Given the description of an element on the screen output the (x, y) to click on. 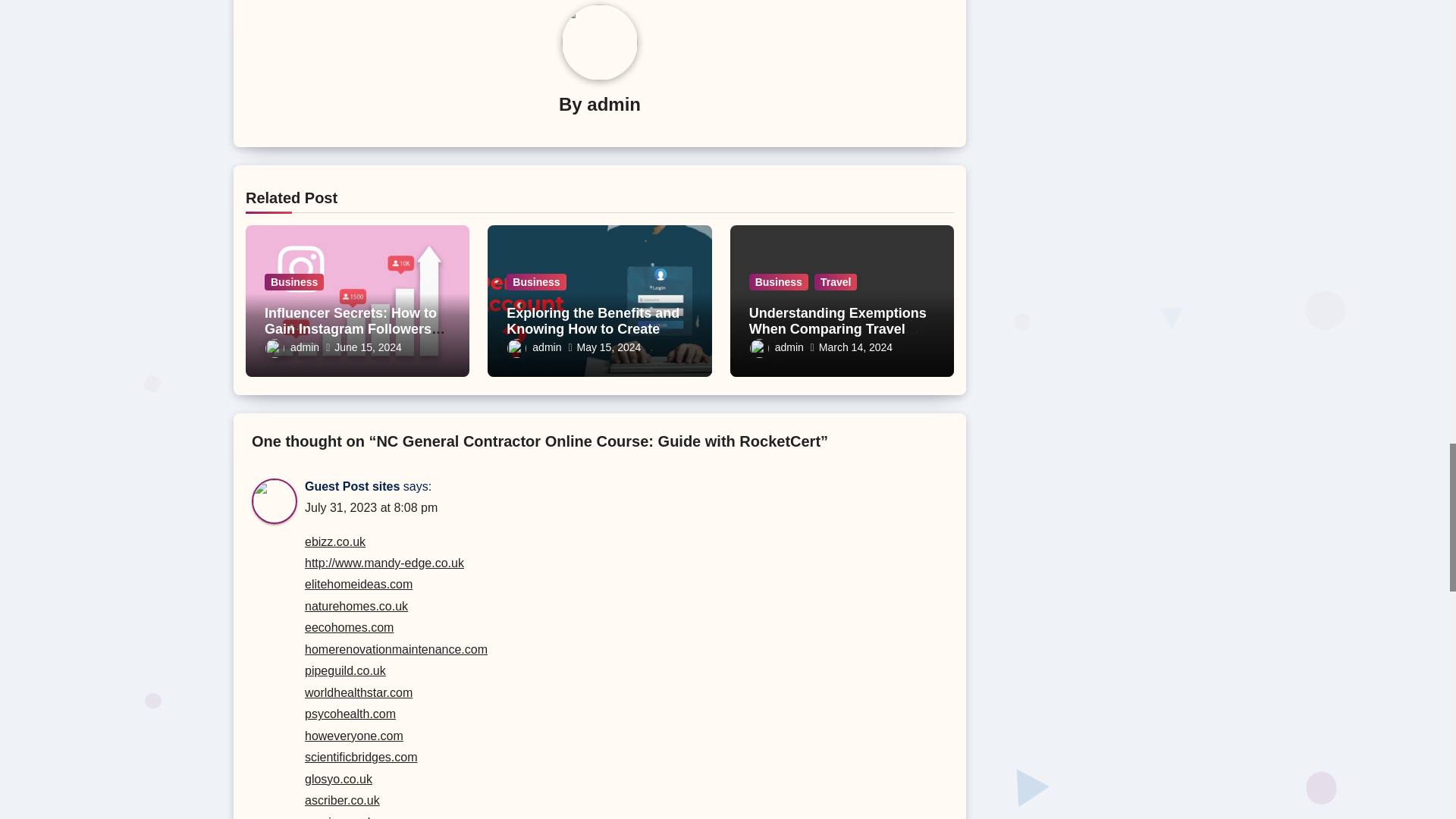
admin (613, 104)
admin (291, 346)
Influencer Secrets: How to Gain Instagram Followers Fast (354, 328)
Business (293, 281)
